Given the description of an element on the screen output the (x, y) to click on. 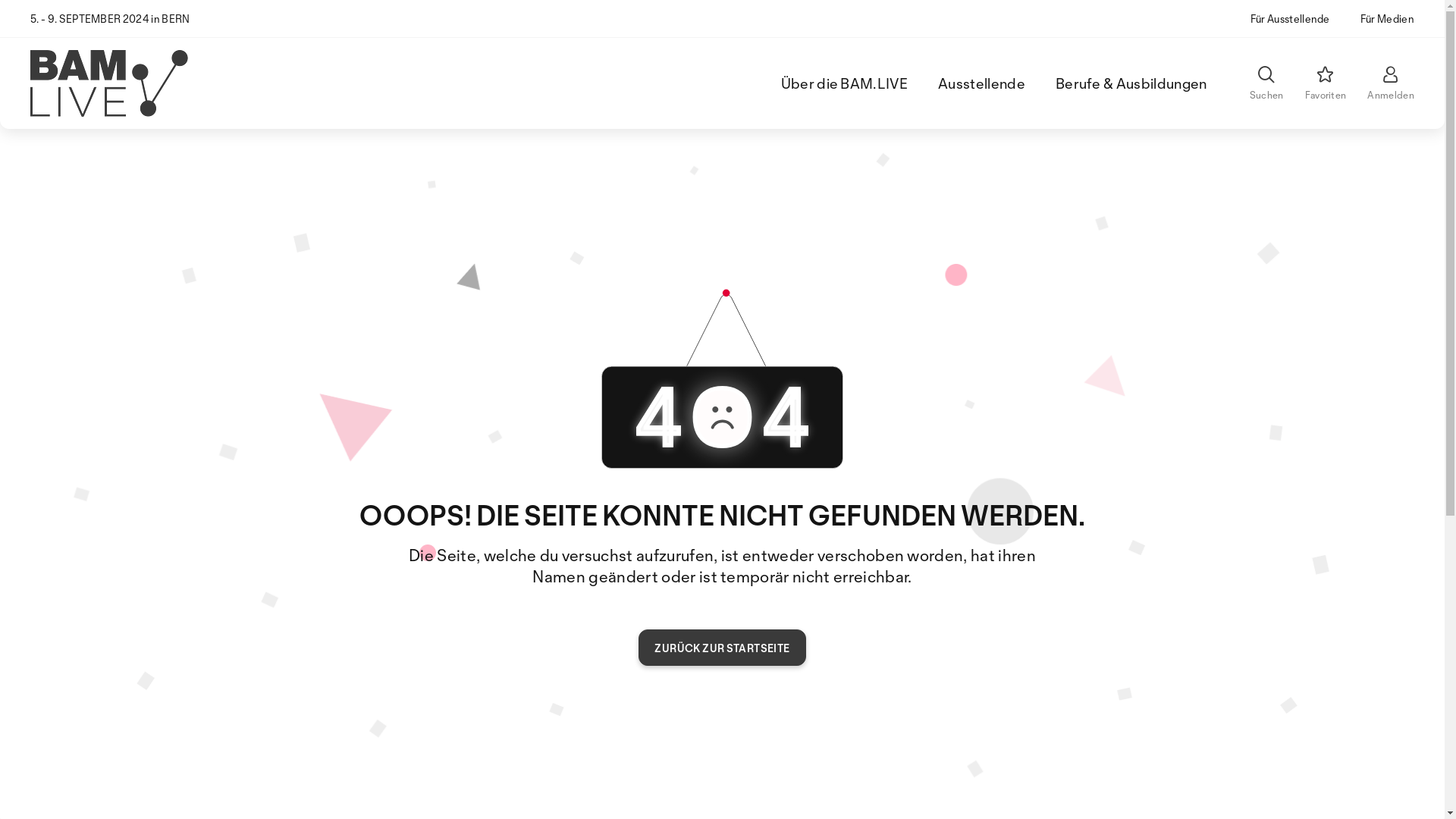
NEWSLETTER BESTELLEN Element type: text (559, 680)
Impressum Element type: text (248, 789)
Disclaimer Element type: text (321, 789)
Berufe & Ausbildungen Element type: text (1131, 83)
Suchen Element type: text (1266, 82)
Anmelden Element type: text (1390, 82)
Datenschutz Element type: text (443, 789)
Consent Choices Element type: text (537, 789)
Favoriten Element type: text (1325, 82)
AGB Element type: text (380, 789)
Ausstellende Element type: text (981, 83)
